Given the description of an element on the screen output the (x, y) to click on. 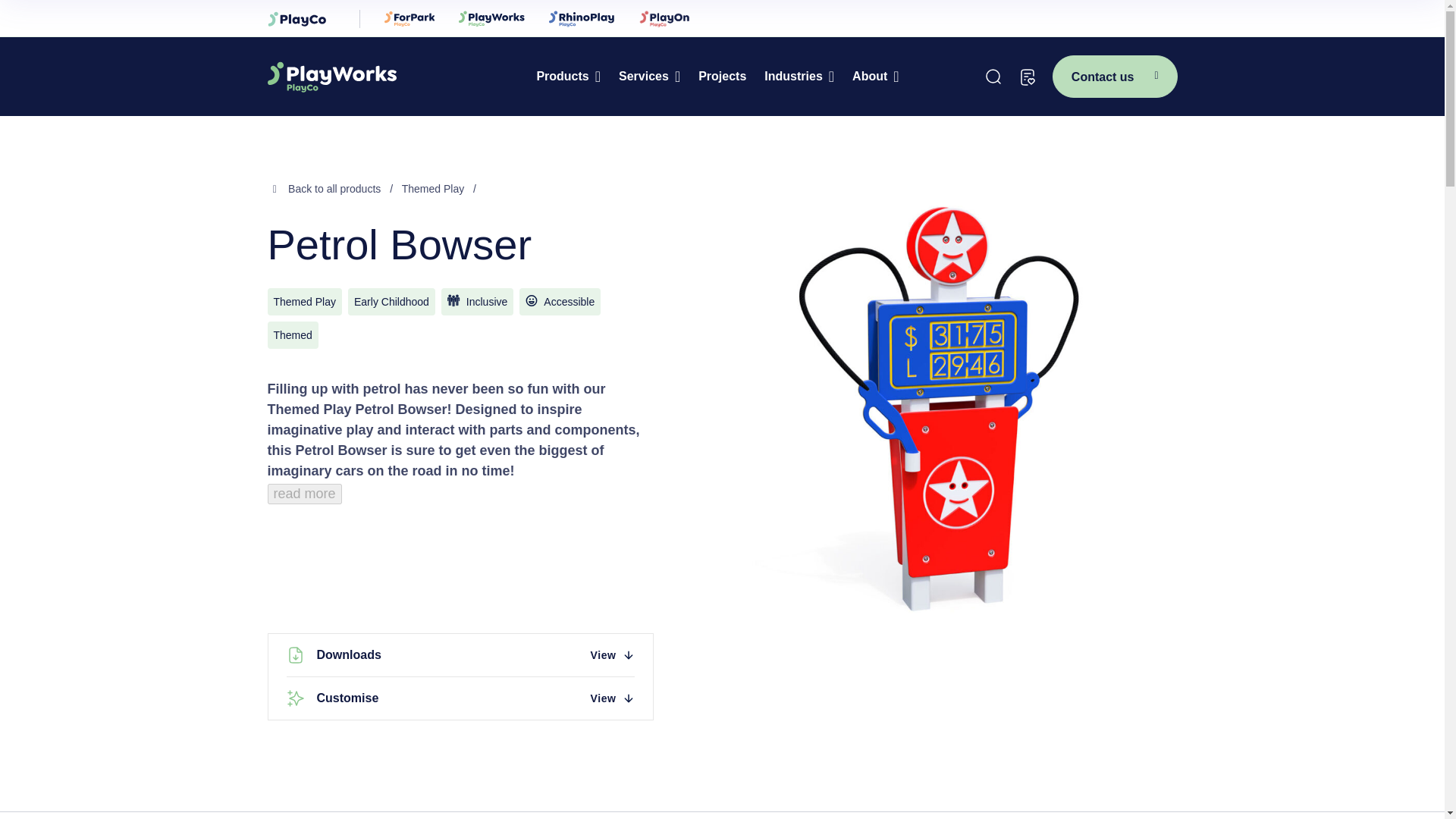
PlayWorks (375, 76)
